Given the description of an element on the screen output the (x, y) to click on. 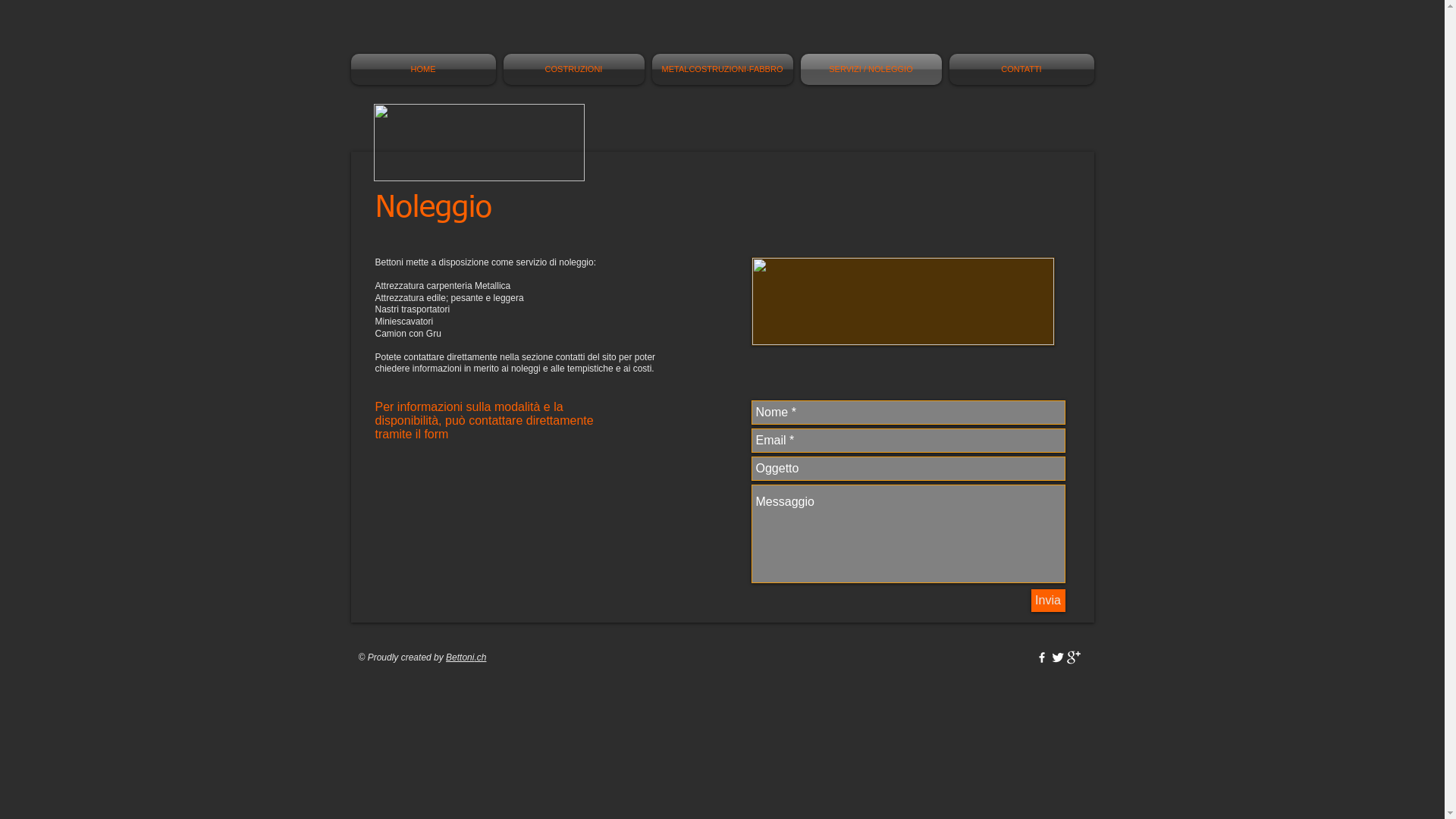
CONTATTI Element type: text (1018, 68)
Cookie Alert Element type: hover (721, 657)
METALCOSTRUZIONI-FABBRO Element type: text (721, 68)
HOME Element type: text (424, 68)
COSTRUZIONI Element type: text (572, 68)
Logo Bettoni.png Element type: hover (478, 142)
.ch Element type: text (479, 657)
SERVIZI / NOLEGGIO Element type: text (870, 68)
Invia Element type: text (1048, 600)
